Given the description of an element on the screen output the (x, y) to click on. 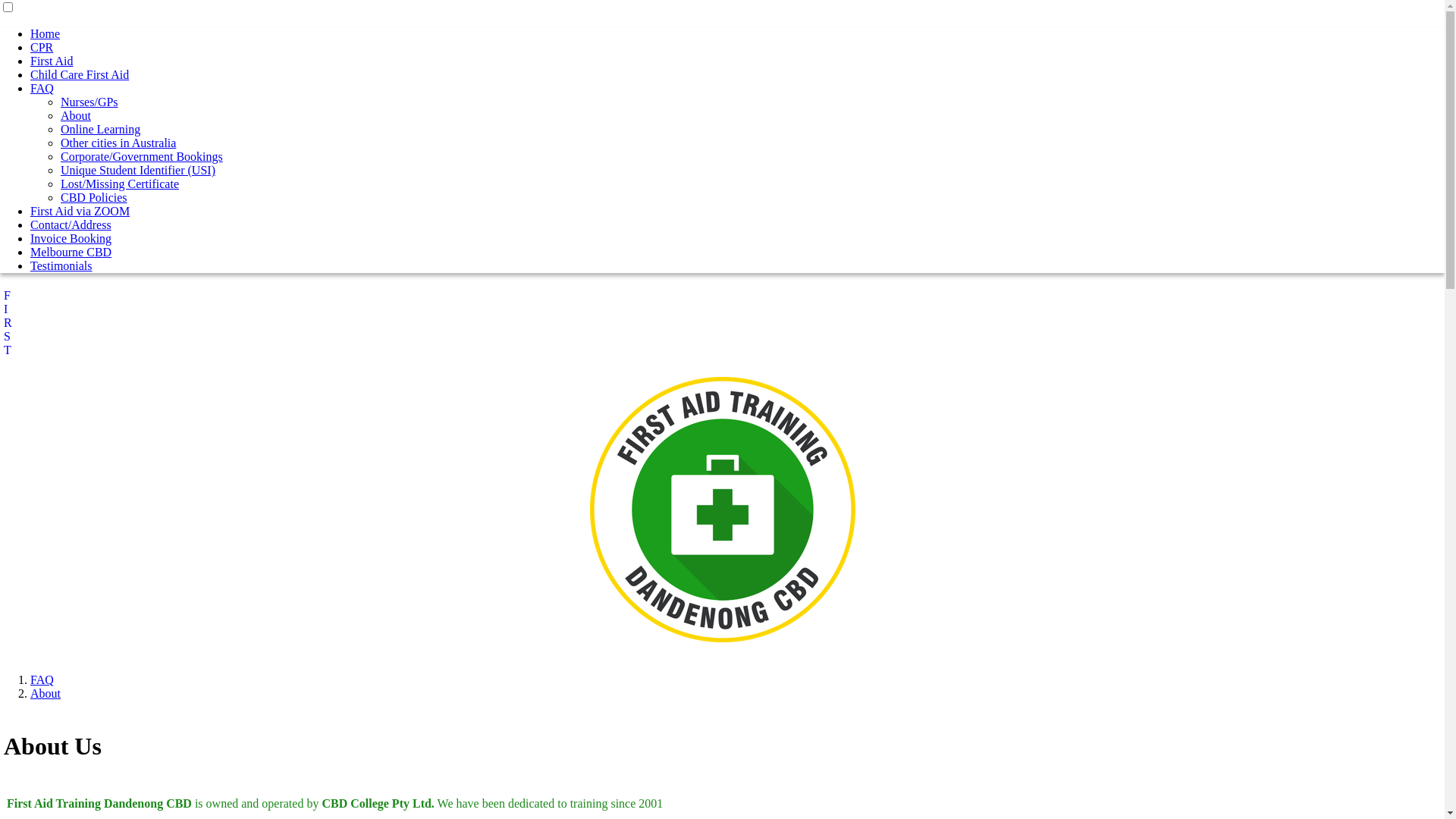
Home Element type: text (44, 33)
Online Learning Element type: text (100, 128)
Invoice Booking Element type: text (70, 238)
Child Care First Aid Element type: text (79, 74)
Testimonials Element type: text (61, 265)
FAQ Element type: text (41, 679)
F
I
R
S
T Element type: text (7, 322)
Other cities in Australia Element type: text (117, 142)
Lost/Missing Certificate Element type: text (119, 183)
CBD Policies Element type: text (93, 197)
Corporate/Government Bookings Element type: text (141, 156)
Melbourne CBD Element type: text (70, 251)
CPR Element type: text (41, 46)
Unique Student Identifier (USI) Element type: text (137, 169)
Contact/Address Element type: text (70, 224)
Nurses/GPs Element type: text (89, 101)
FAQ Element type: text (41, 87)
First Aid via ZOOM Element type: text (79, 210)
About Element type: text (75, 115)
About Element type: text (45, 693)
First Aid Element type: text (51, 60)
